Given the description of an element on the screen output the (x, y) to click on. 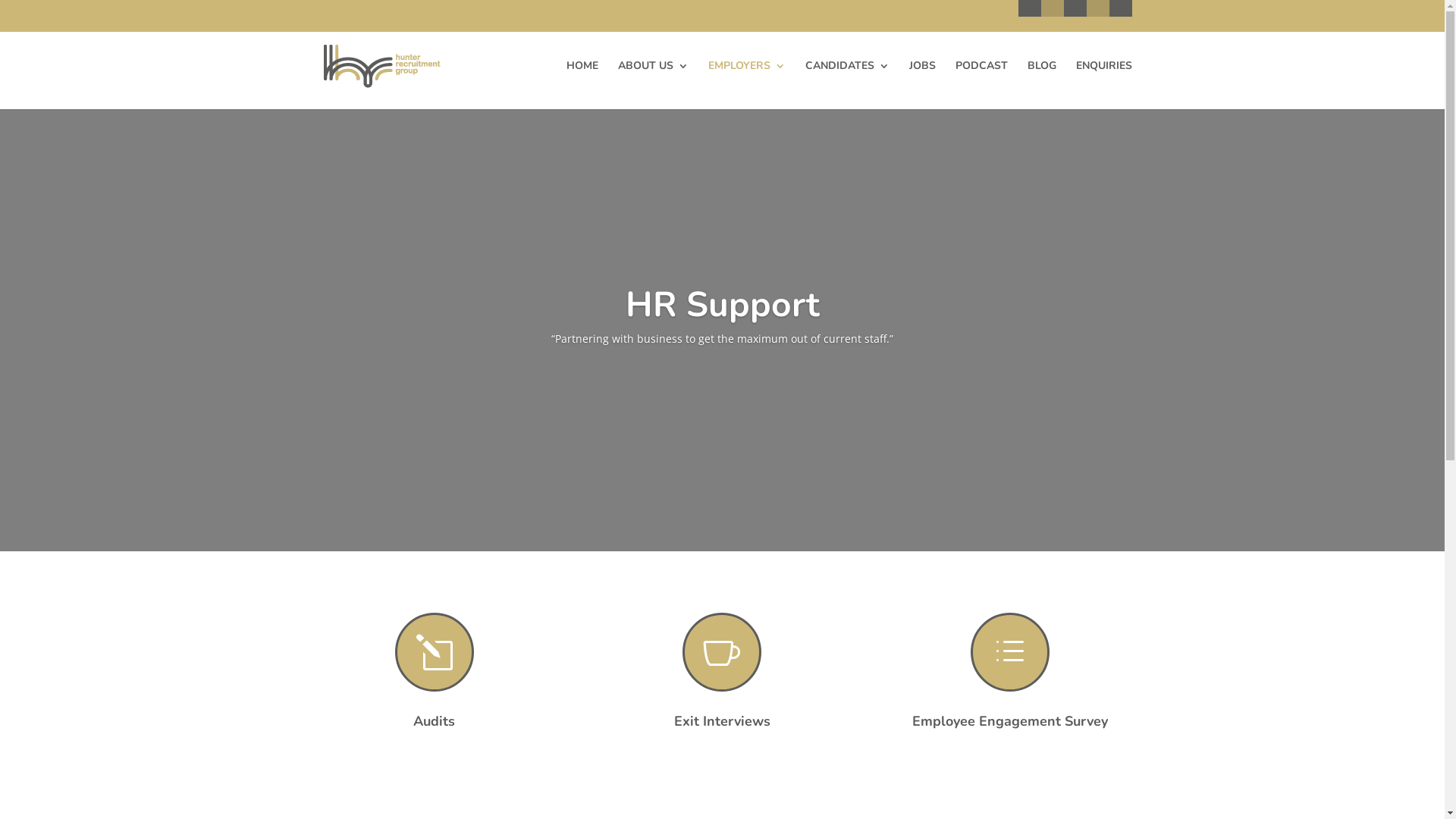
ENQUIRIES Element type: text (1103, 84)
JOBS Element type: text (921, 84)
EMPLOYERS Element type: text (746, 84)
HOME Element type: text (581, 84)
CANDIDATES Element type: text (847, 84)
PODCAST Element type: text (981, 84)
BLOG Element type: text (1040, 84)
ABOUT US Element type: text (652, 84)
